Given the description of an element on the screen output the (x, y) to click on. 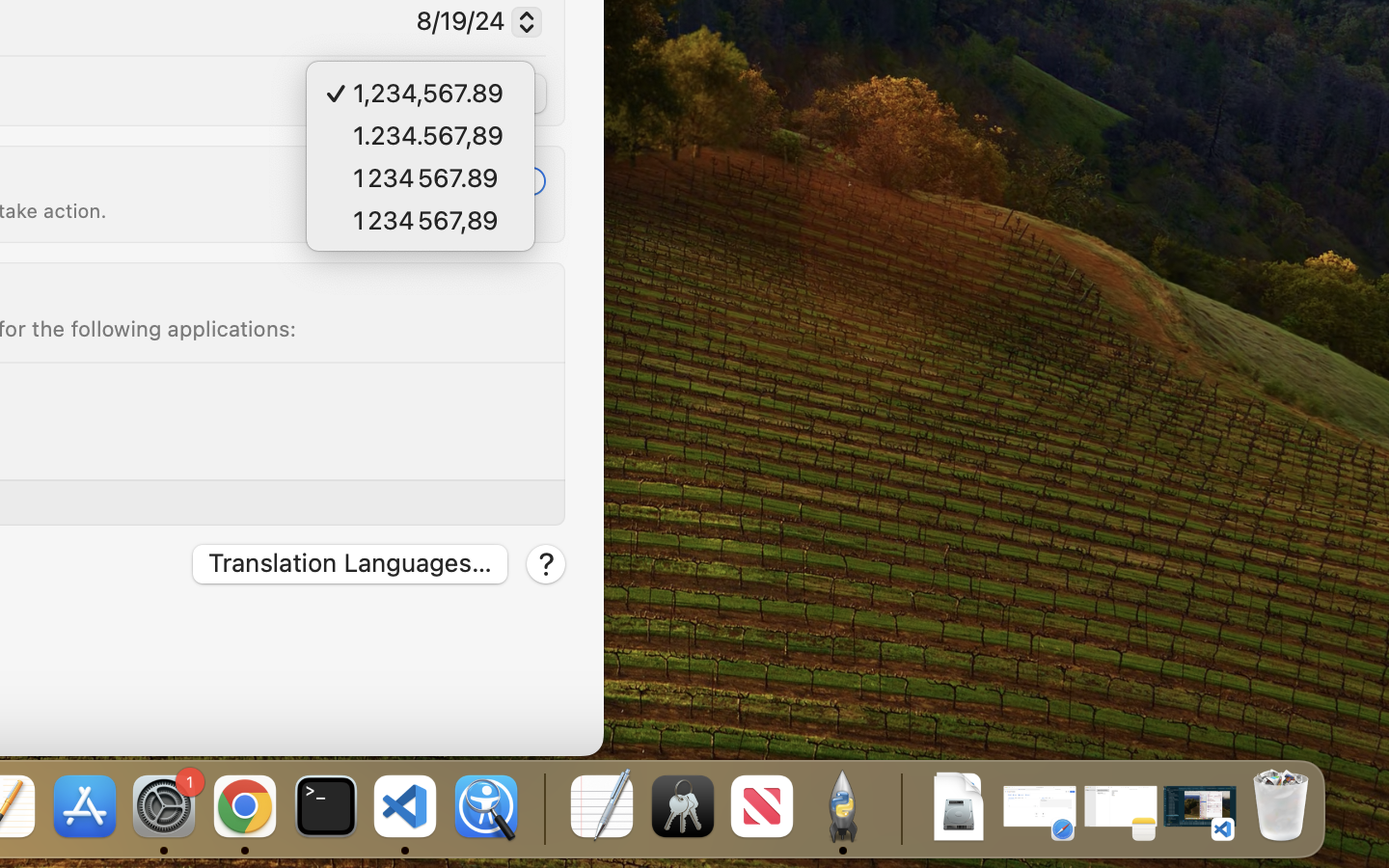
0.4285714328289032 Element type: AXDockItem (541, 807)
1 Element type: AXCheckBox (520, 179)
1,234,567.89 Element type: AXPopUpButton (439, 95)
8/19/24 Element type: AXPopUpButton (470, 24)
